Given the description of an element on the screen output the (x, y) to click on. 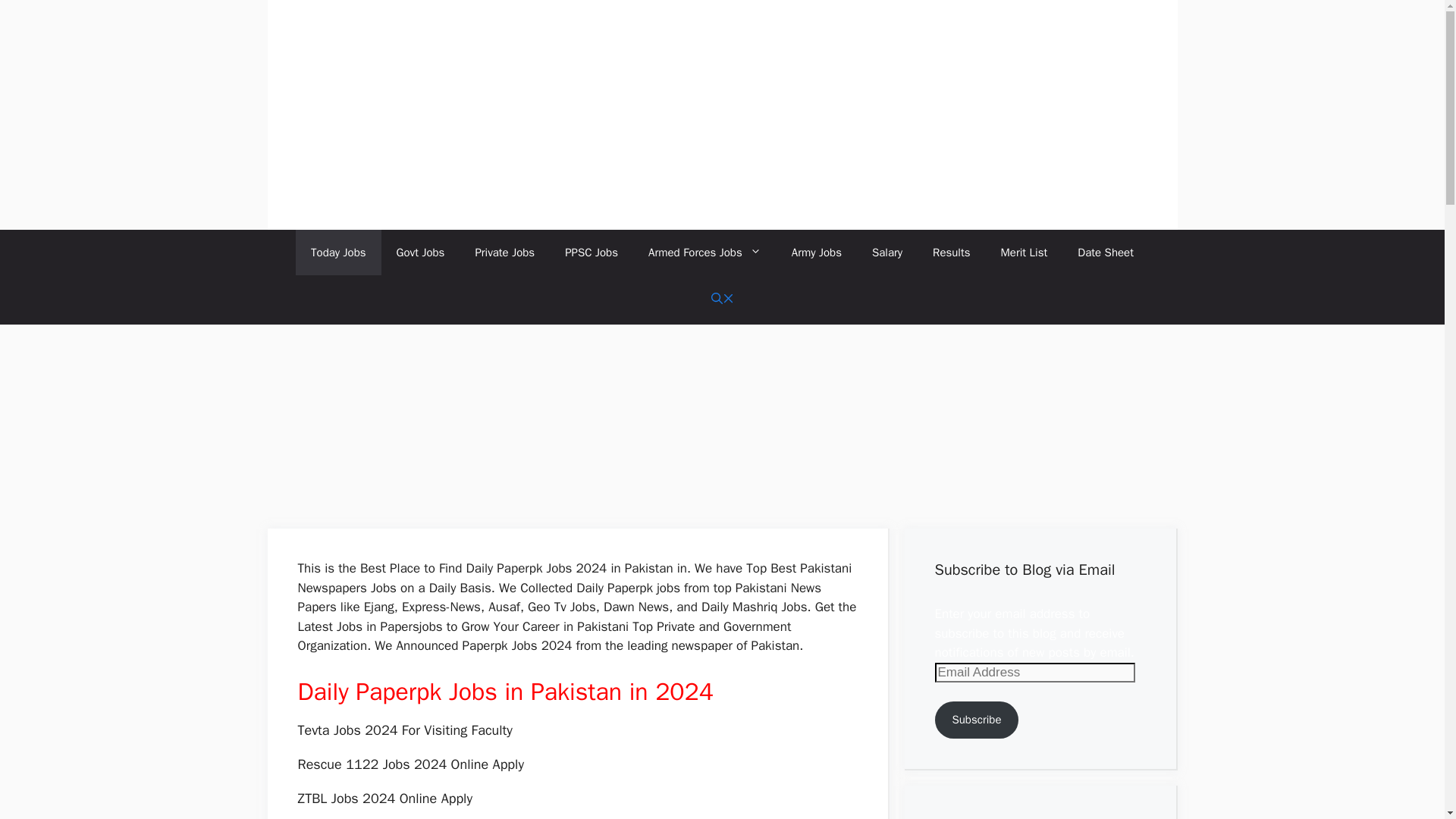
Date Sheet (1105, 251)
Merit List (1023, 251)
Rescue 1122 Jobs 2024 Online Apply (409, 764)
Results (951, 251)
Salary (887, 251)
Private Jobs (505, 251)
PPSC Jobs (591, 251)
ZTBL Jobs 2024 Online Apply (384, 798)
Army Jobs (816, 251)
Career (540, 626)
Govt Jobs (420, 251)
Today Jobs (338, 251)
Armed Forces Jobs (704, 251)
Tevta Jobs 2024 For Visiting Faculty (404, 729)
